Given the description of an element on the screen output the (x, y) to click on. 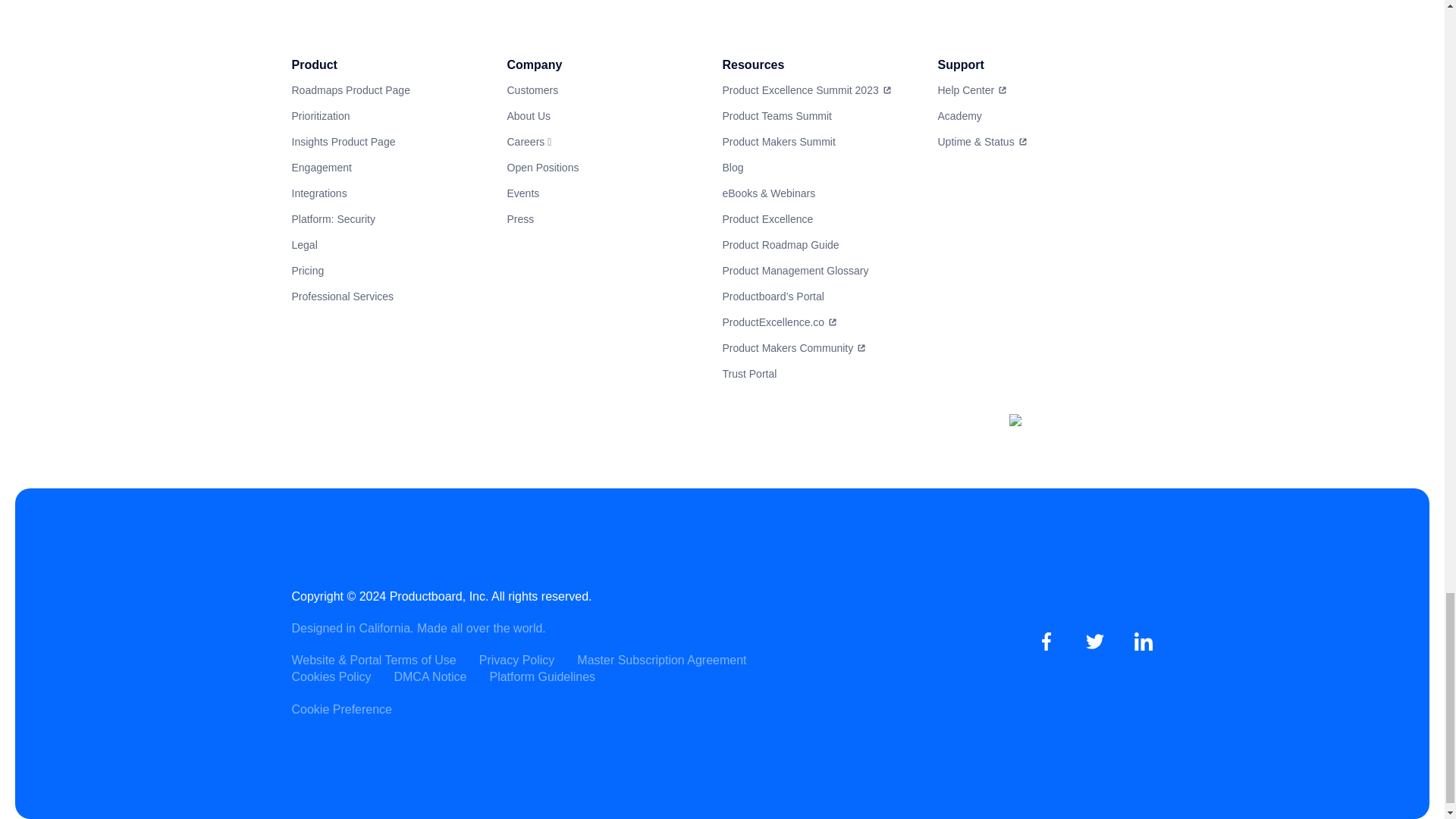
Follow productboard on Twitter (1094, 641)
Follow productboard on LinkedIn (1143, 641)
Follow productboard on Facebook (1045, 641)
